Given the description of an element on the screen output the (x, y) to click on. 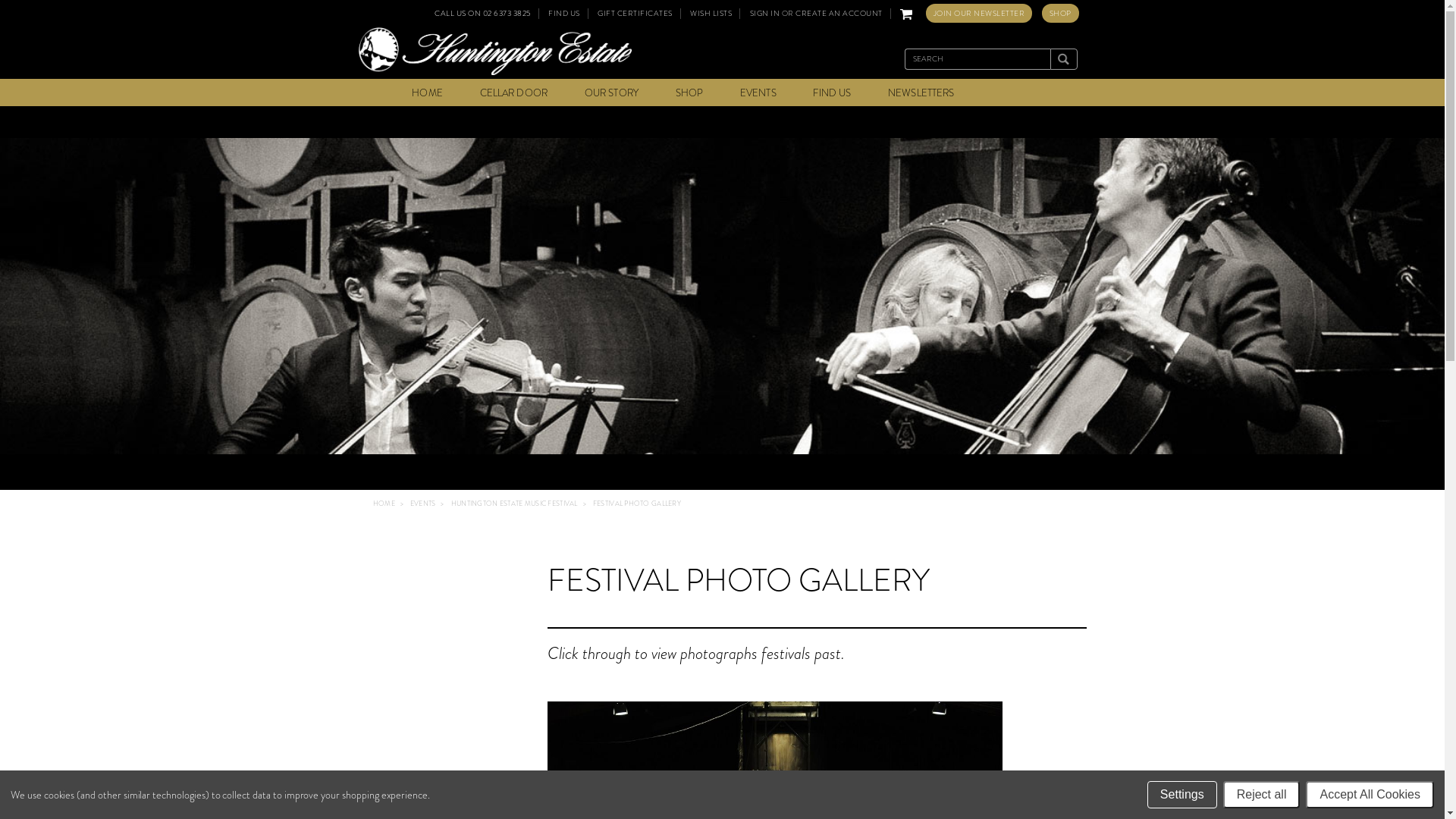
EVENTS Element type: text (758, 92)
NEWSLETTERS Element type: text (920, 92)
EVENTS Element type: text (423, 503)
Settings Element type: text (1182, 794)
CELLAR DOOR Element type: text (513, 92)
HUNTINGTON ESTATE MUSIC FESTIVAL Element type: text (514, 503)
OUR STORY Element type: text (611, 92)
FIND US Element type: text (564, 12)
GIFT CERTIFICATES Element type: text (634, 12)
SHOP Element type: text (689, 92)
Accept All Cookies Element type: text (1369, 794)
SHOP Element type: text (1060, 12)
JOIN OUR NEWSLETTER Element type: text (978, 12)
CREATE AN ACCOUNT Element type: text (838, 12)
HOME Element type: text (426, 92)
SIGN IN Element type: text (764, 12)
FIND US Element type: text (831, 92)
View Cart Element type: hover (906, 14)
Search Element type: hover (1062, 58)
Reject all Element type: text (1261, 794)
HOME Element type: text (384, 503)
WISH LISTS Element type: text (710, 12)
